Given the description of an element on the screen output the (x, y) to click on. 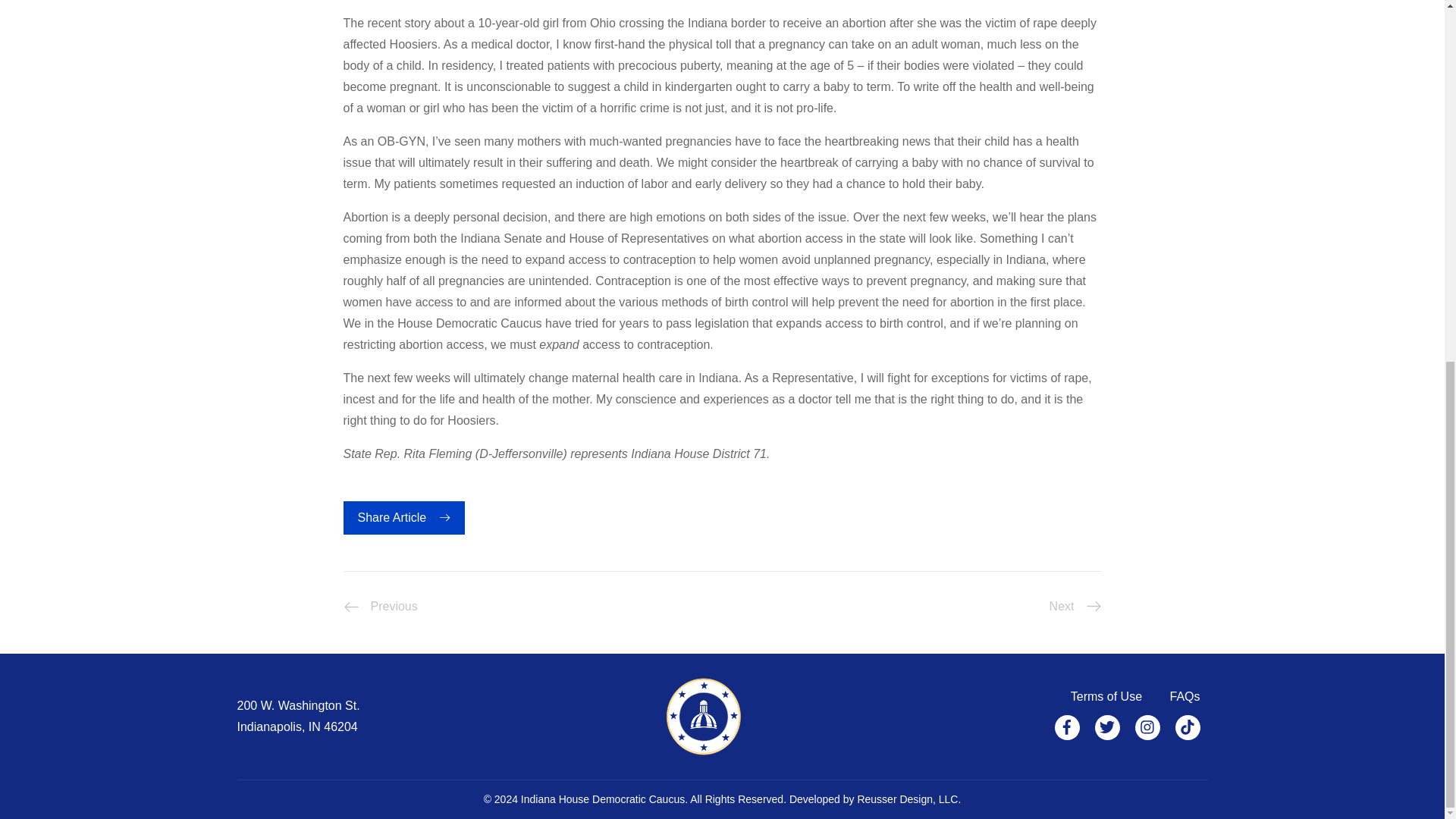
Share Article (403, 517)
FAQs (1184, 696)
Next (1075, 606)
Previous (379, 606)
Terms of Use (1105, 696)
